Given the description of an element on the screen output the (x, y) to click on. 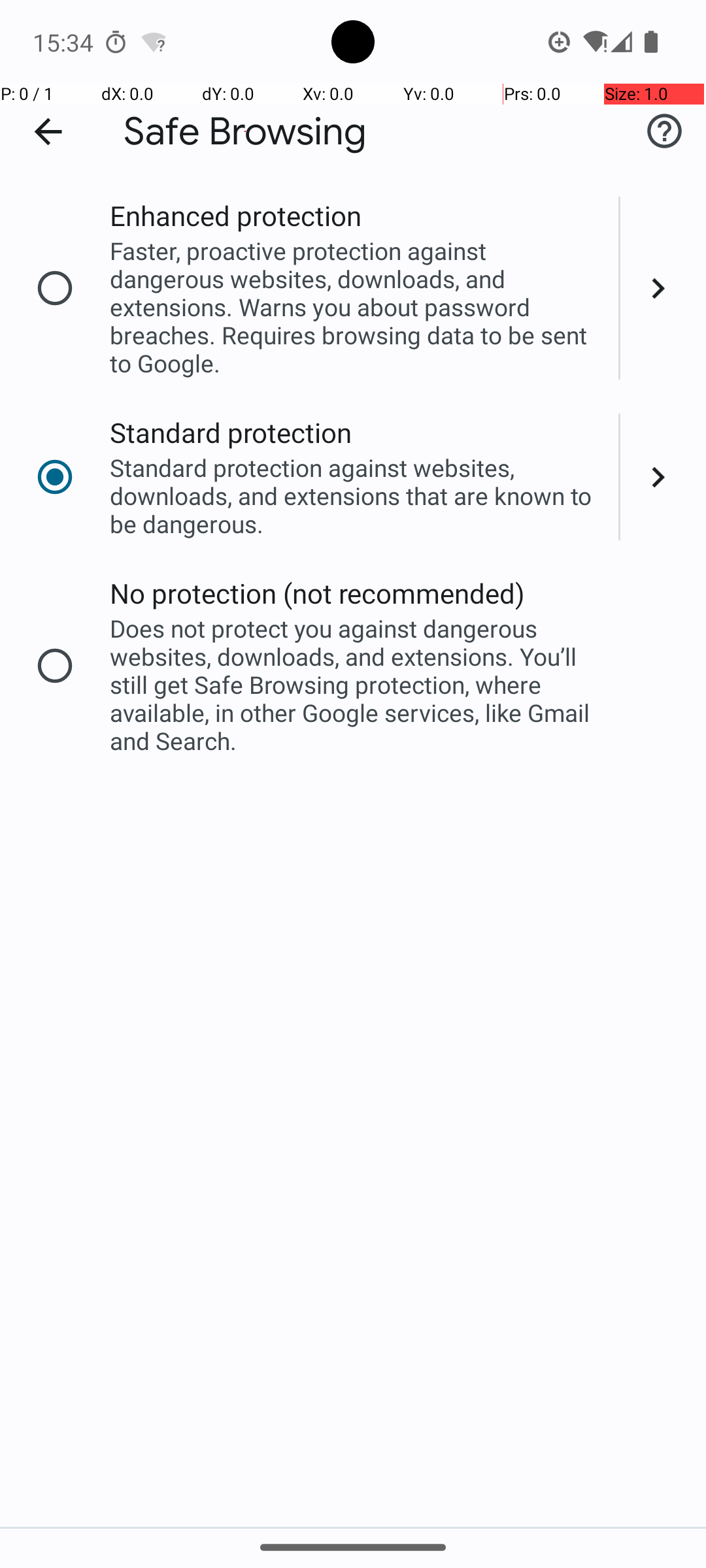
Enhanced protection Element type: android.widget.TextView (235, 214)
Faster, proactive protection against dangerous websites, downloads, and extensions. Warns you about password breaches. Requires browsing data to be sent to Google. Element type: android.widget.TextView (355, 306)
Standard protection Element type: android.widget.TextView (230, 431)
Standard protection against websites, downloads, and extensions that are known to be dangerous. Element type: android.widget.TextView (355, 495)
No protection (not recommended) Element type: android.widget.TextView (317, 592)
Does not protect you against dangerous websites, downloads, and extensions. You’ll still get Safe Browsing protection, where available, in other Google services, like Gmail and Search. Element type: android.widget.TextView (355, 684)
